Given the description of an element on the screen output the (x, y) to click on. 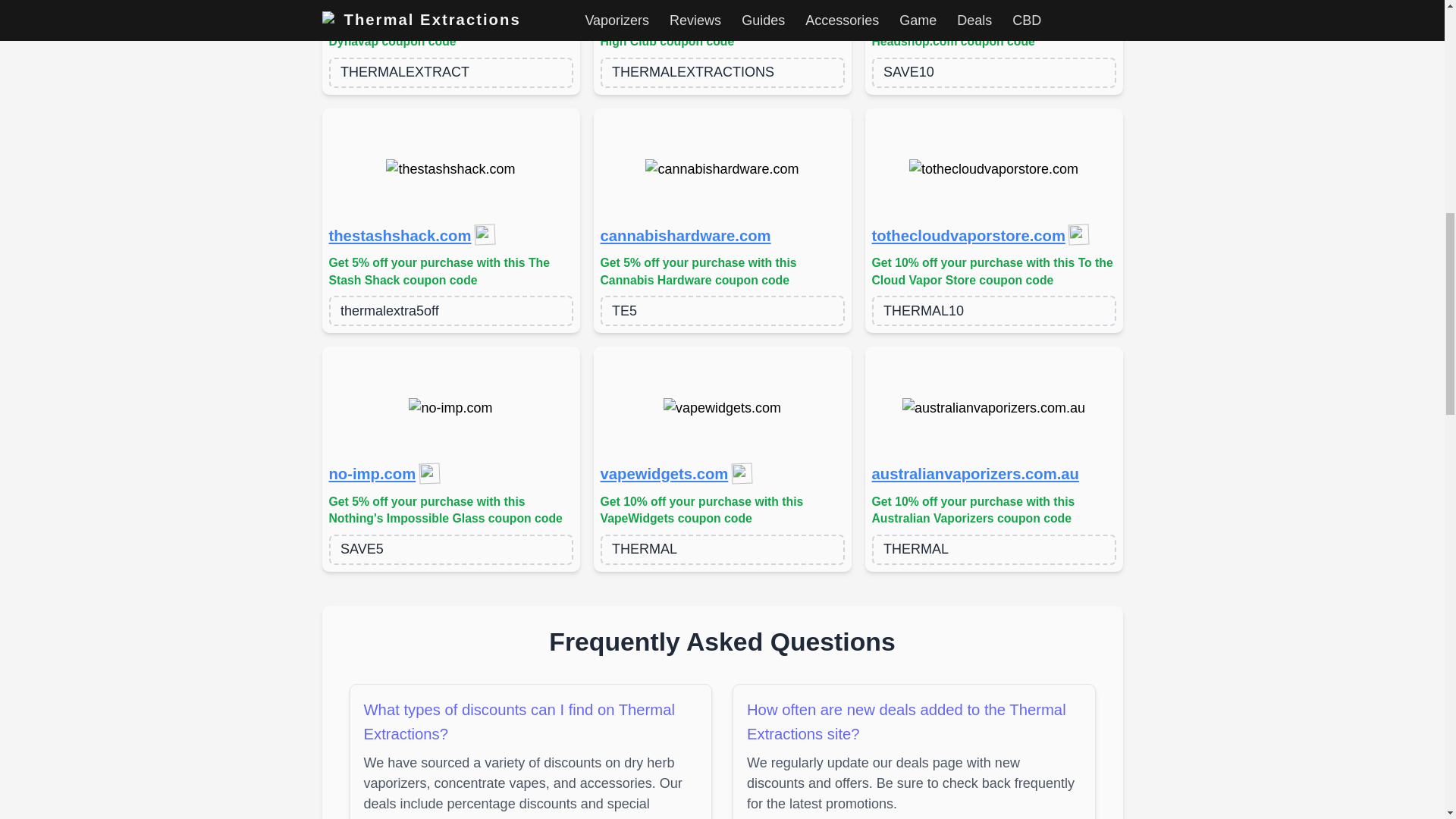
dynavap.com (377, 4)
vapewidgets.com (664, 474)
tothecloudvaporstore.com (968, 236)
thestashshack.com (400, 236)
no-imp.com (372, 474)
dailyhighclub.com (667, 4)
cannabishardware.com (685, 236)
australianvaporizers.com.au (975, 474)
headshop.com (925, 4)
